Given the description of an element on the screen output the (x, y) to click on. 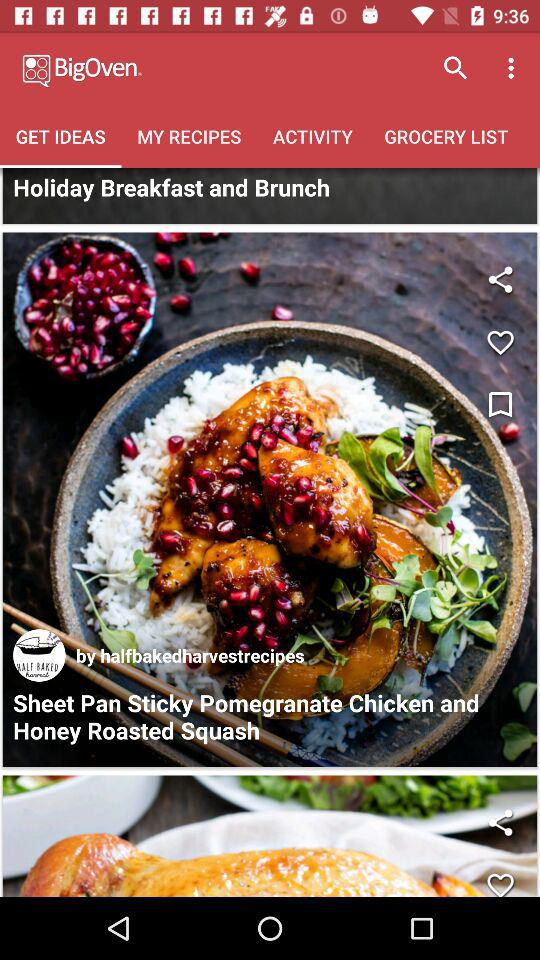
show recipe (269, 836)
